Given the description of an element on the screen output the (x, y) to click on. 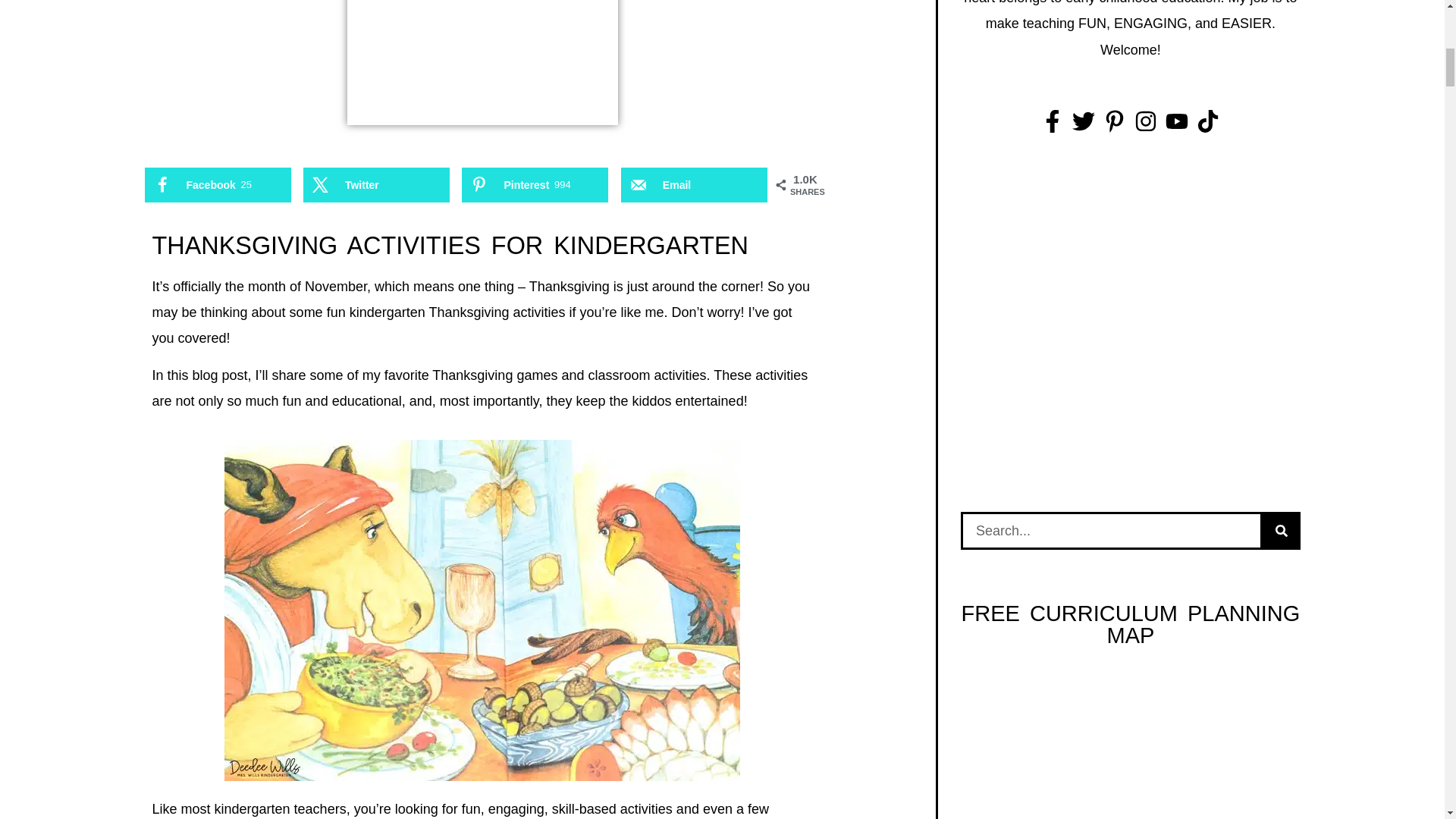
Share on Facebook (216, 184)
Send over email (694, 184)
Save to Pinterest (534, 184)
15 Easy and Fun Thanksgiving Activities for Kindergarten 2 (481, 609)
Share on X (375, 184)
